Given the description of an element on the screen output the (x, y) to click on. 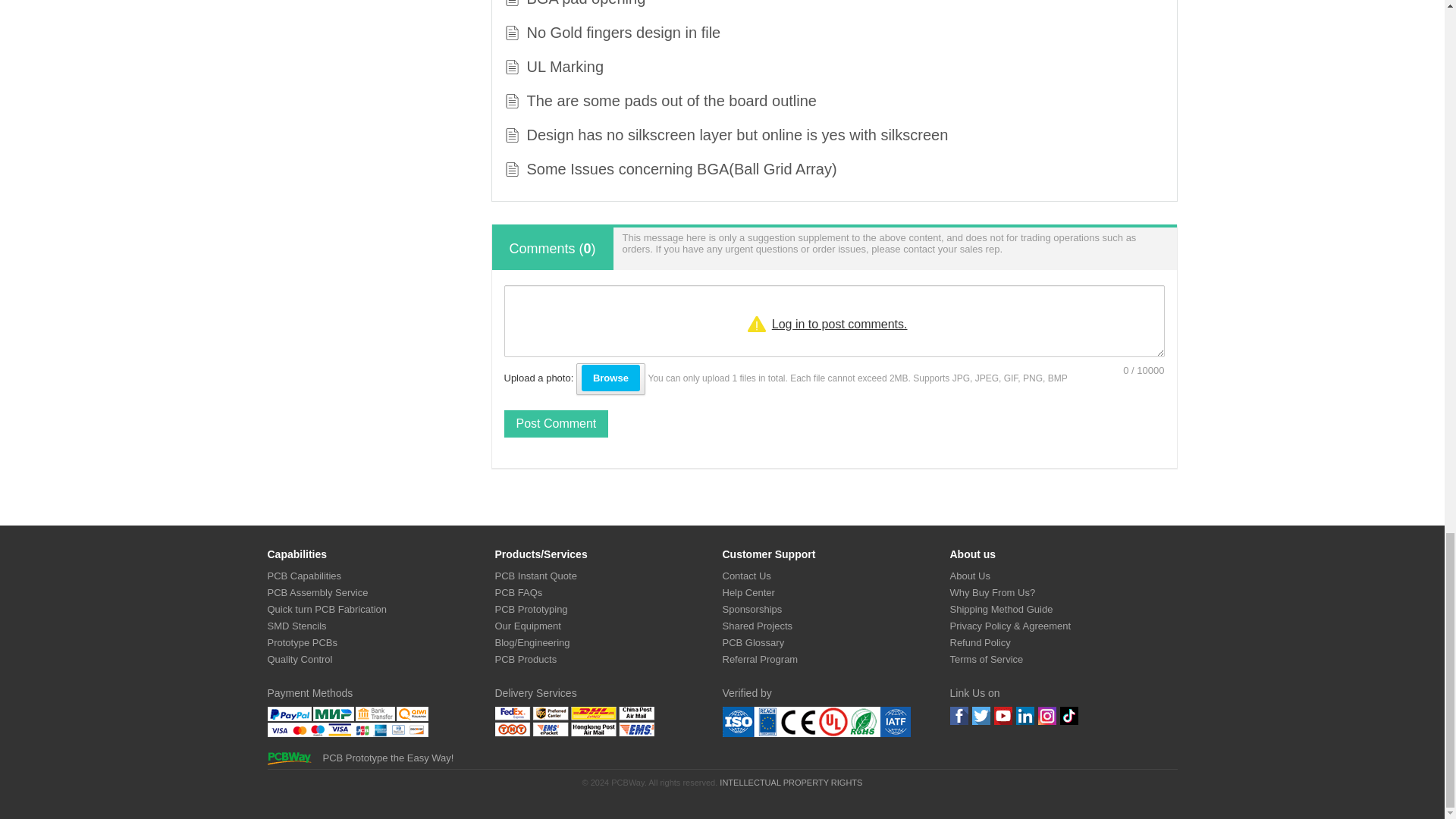
Follow us on facebook (958, 715)
Follow us on instagram (1045, 715)
Follow us on youtube (1001, 715)
Follow us on linkedin (1024, 715)
Follow us on tiktok (1068, 715)
Follow us on twitter (981, 715)
